Given the description of an element on the screen output the (x, y) to click on. 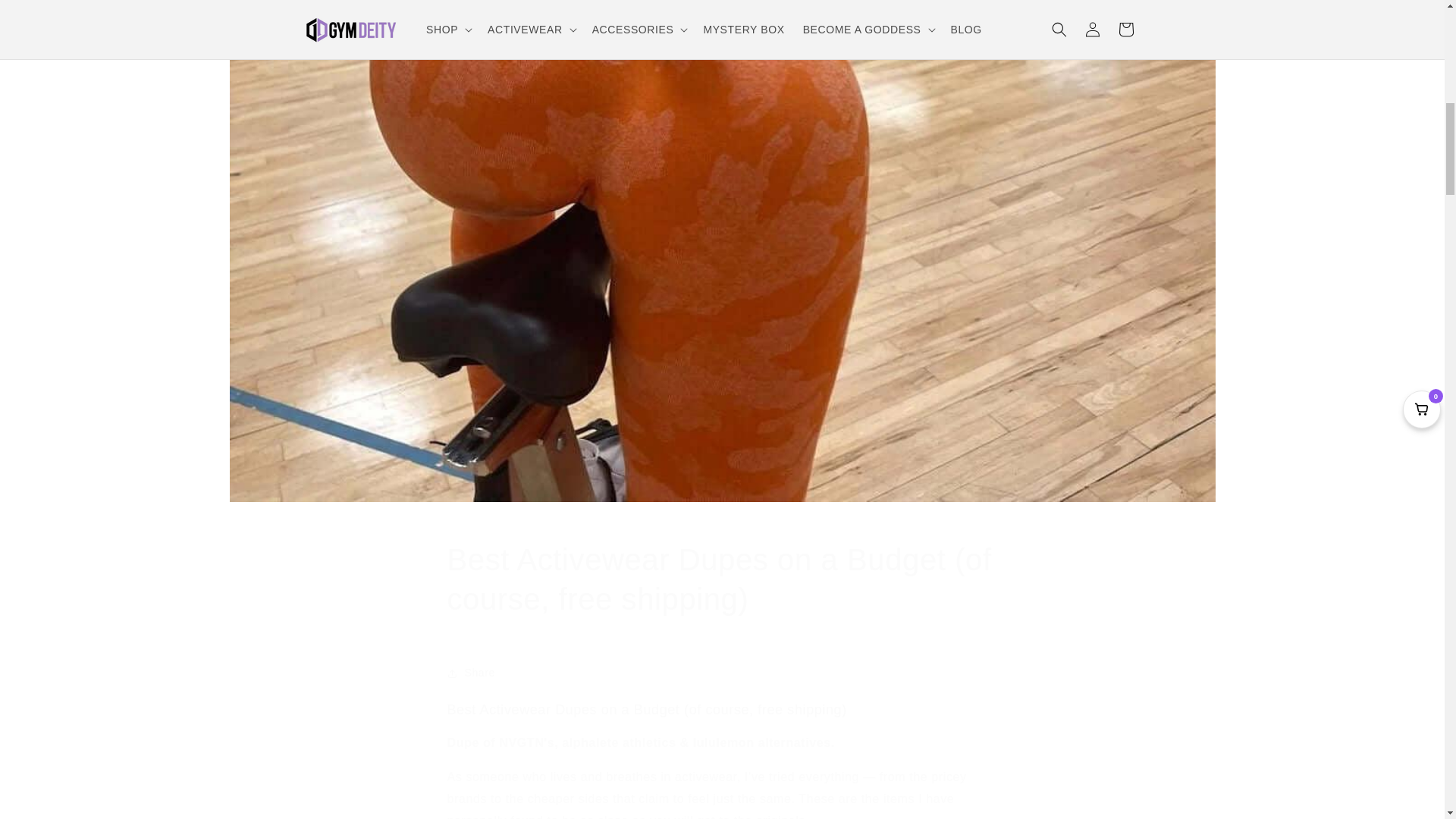
Share (721, 673)
